Given the description of an element on the screen output the (x, y) to click on. 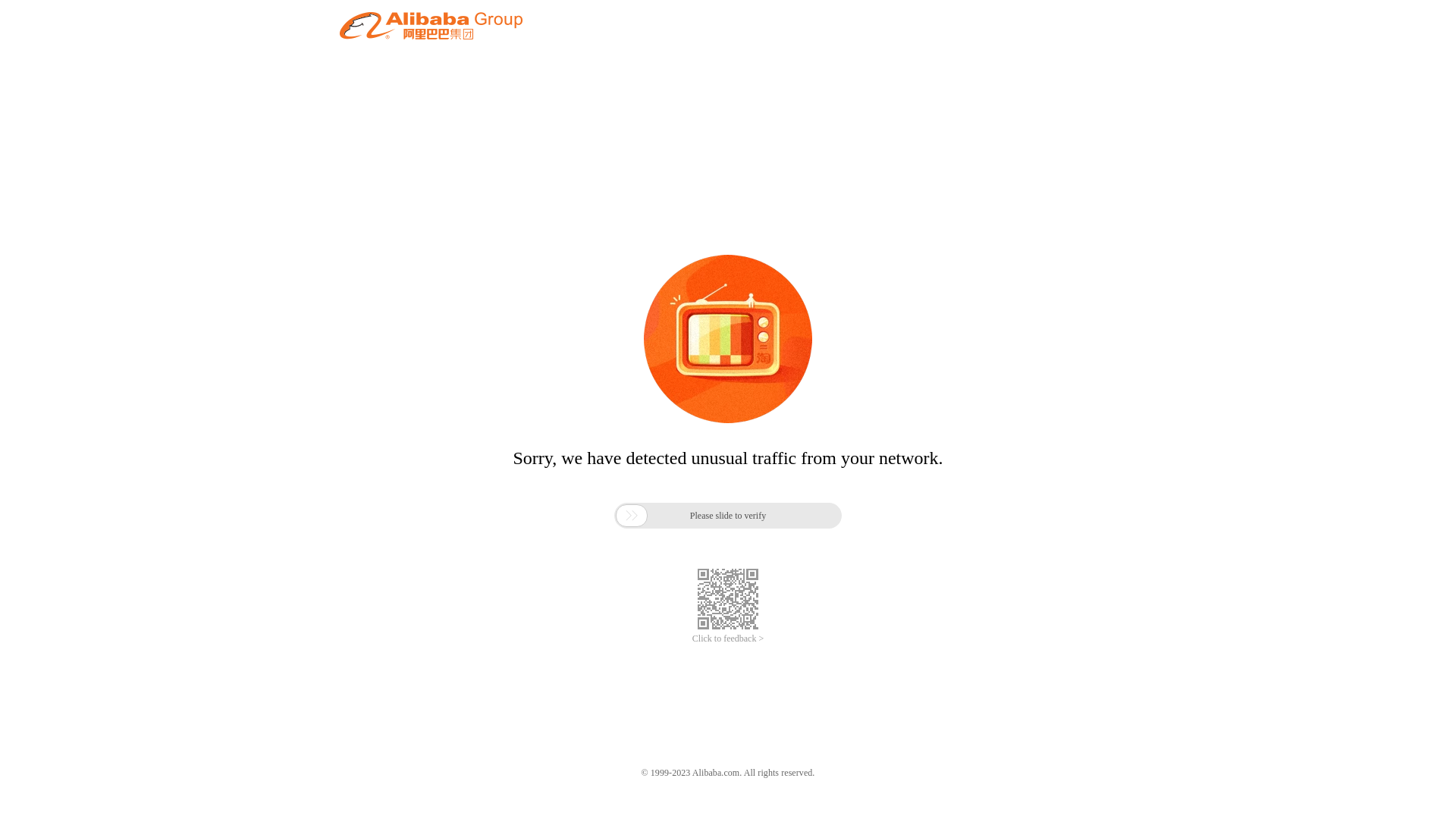
Click to feedback > Element type: text (727, 638)
